Given the description of an element on the screen output the (x, y) to click on. 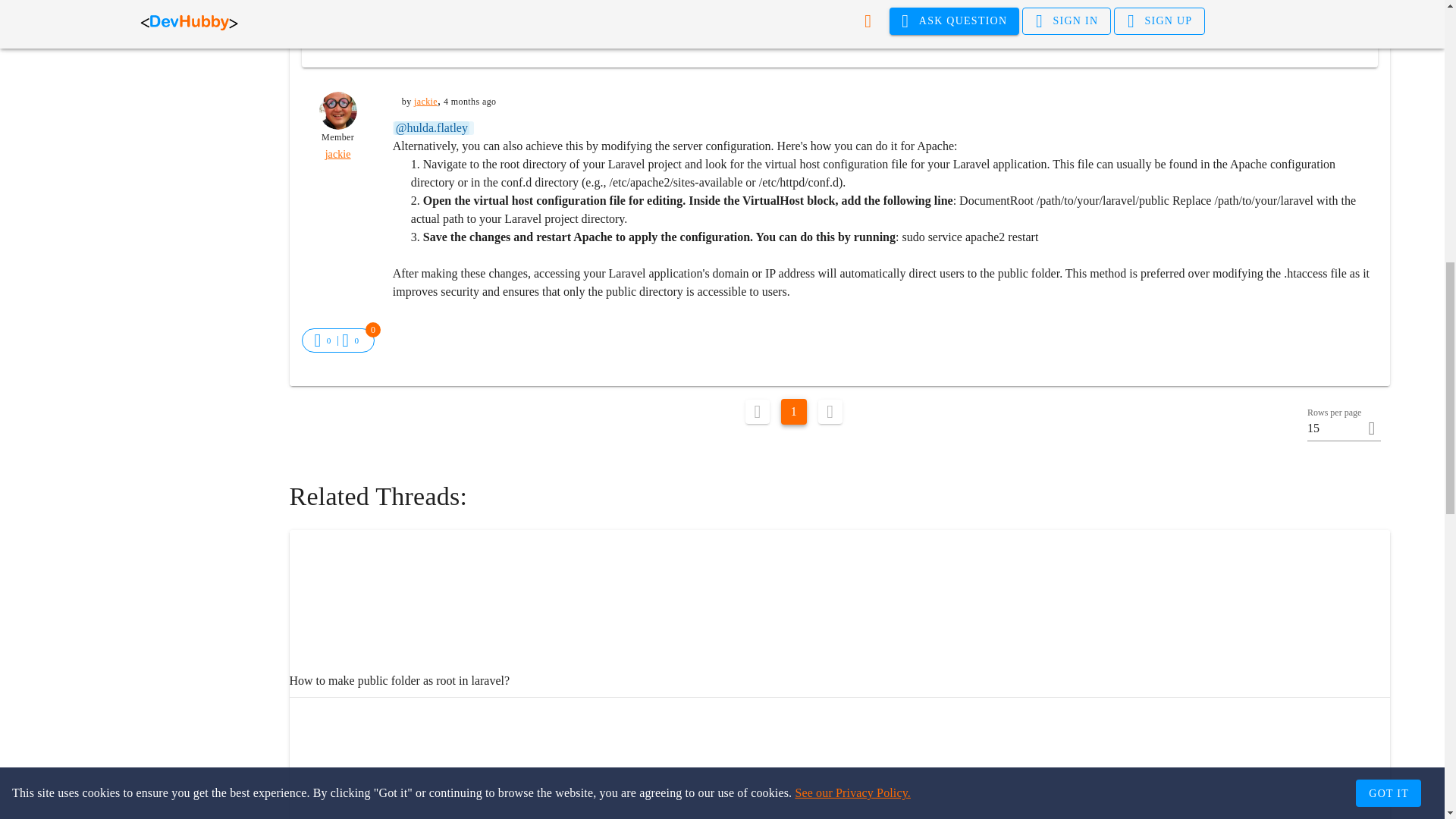
Advertisement (839, 29)
Advertisement (160, 8)
